Given the description of an element on the screen output the (x, y) to click on. 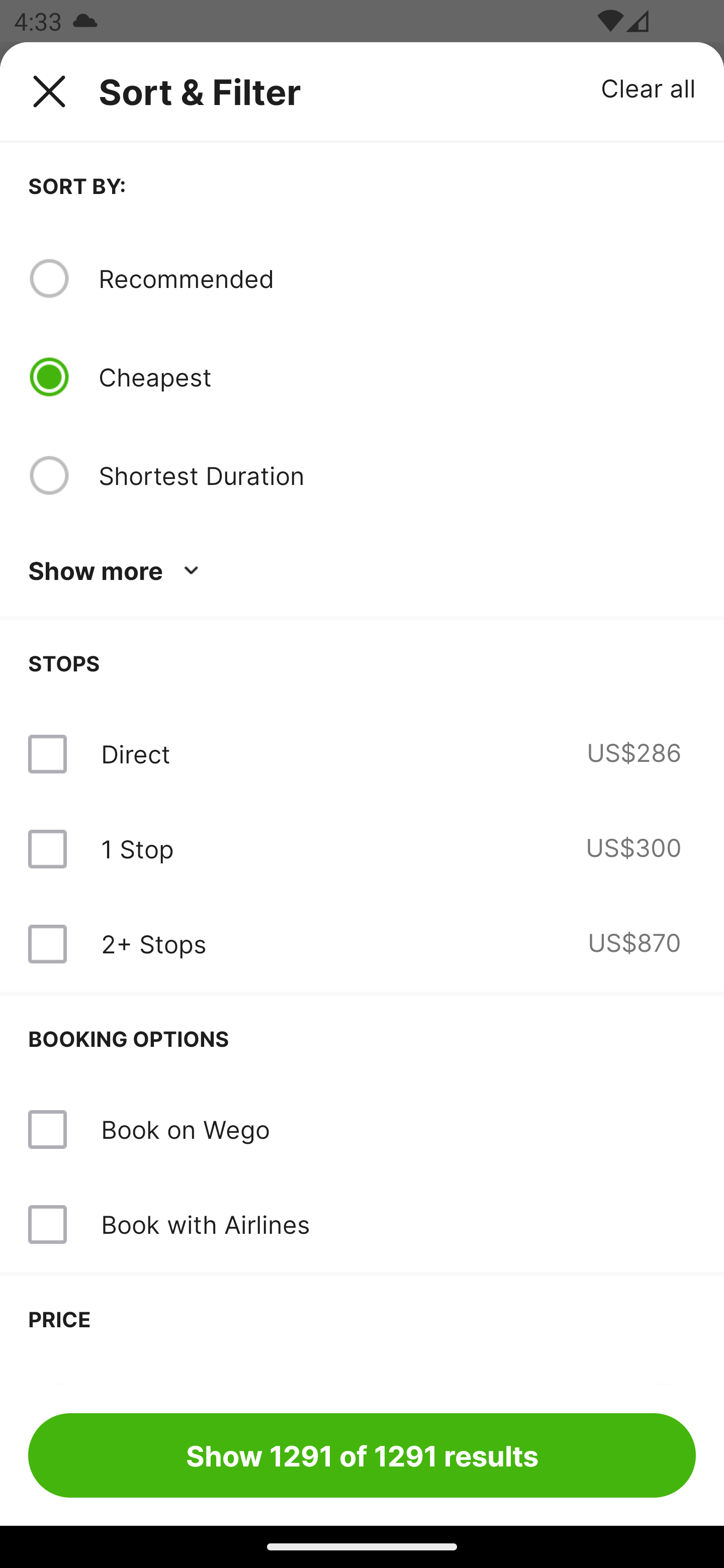
Clear all (648, 87)
Recommended  (396, 278)
Cheapest (396, 377)
Shortest Duration (396, 474)
Show more (116, 570)
Direct US$286 (362, 754)
Direct (135, 753)
1 Stop US$300 (362, 848)
1 Stop (136, 849)
2+ Stops US$870 (362, 943)
2+ Stops (153, 943)
Book on Wego (362, 1129)
Book on Wego (184, 1128)
Book with Airlines (362, 1224)
Book with Airlines (204, 1224)
Show 1291 of 1291 results (361, 1454)
